Given the description of an element on the screen output the (x, y) to click on. 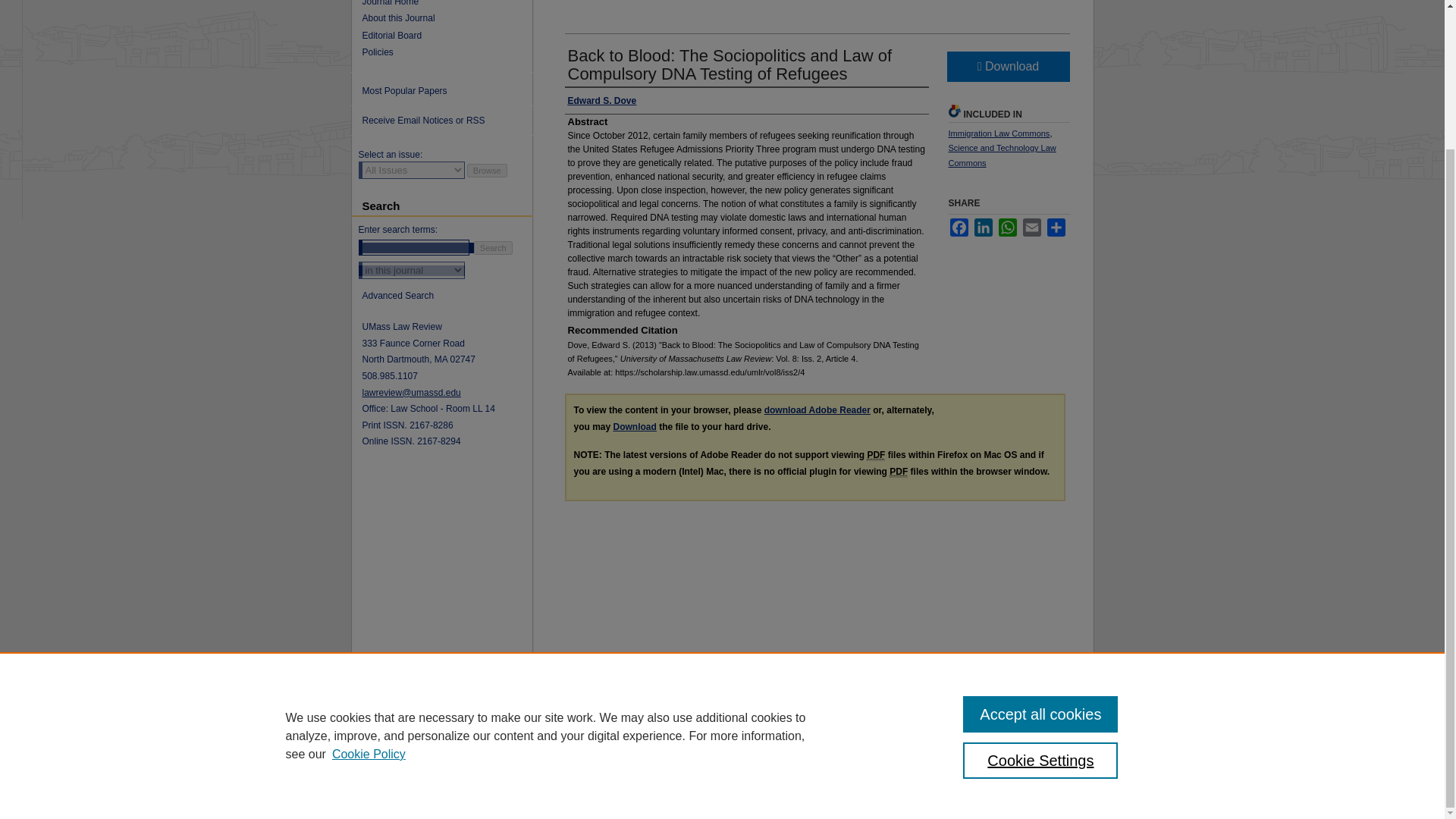
Portable Document Format (898, 471)
Browse (486, 170)
Share (1055, 227)
Immigration Law Commons (998, 133)
LinkedIn (982, 227)
Advanced Search (397, 295)
University of Massachusetts Law Review (447, 3)
Search (493, 247)
Download (1007, 66)
Email (1031, 227)
Immigration Law Commons (998, 133)
download Adobe Reader (817, 409)
Journal Home (447, 3)
Science and Technology Law Commons (1001, 155)
Most Popular Papers (441, 91)
